Given the description of an element on the screen output the (x, y) to click on. 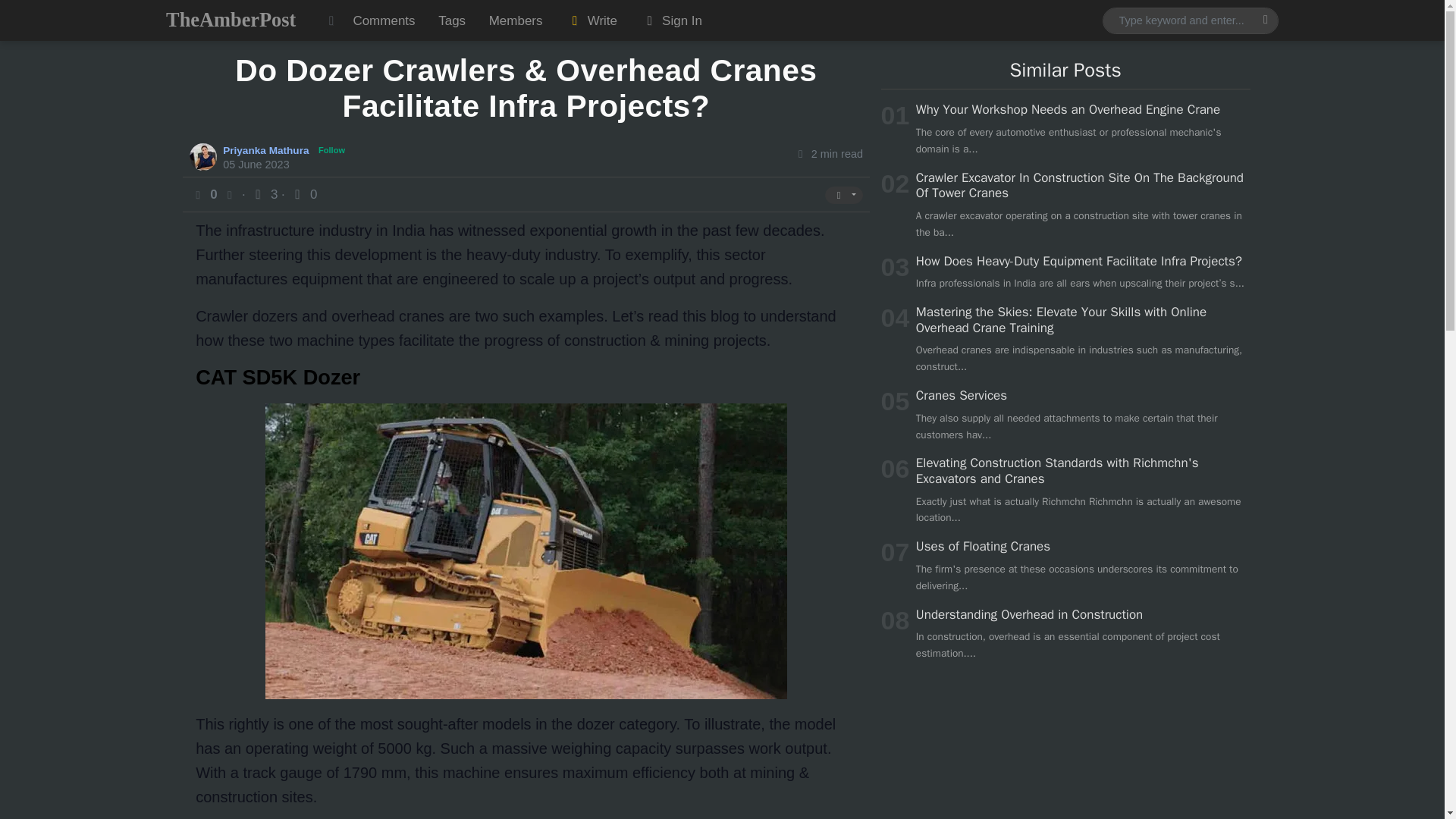
Members (515, 20)
Cranes Services (961, 395)
Comments (383, 20)
Write (591, 20)
Toggle dark mode (330, 20)
Priyanka Mathura (267, 149)
Tags (451, 20)
Understanding Overhead in Construction (1028, 614)
How Does Heavy-Duty Equipment Facilitate Infra Projects? (1078, 261)
0 (302, 194)
Views (264, 194)
Sign In (670, 20)
